Given the description of an element on the screen output the (x, y) to click on. 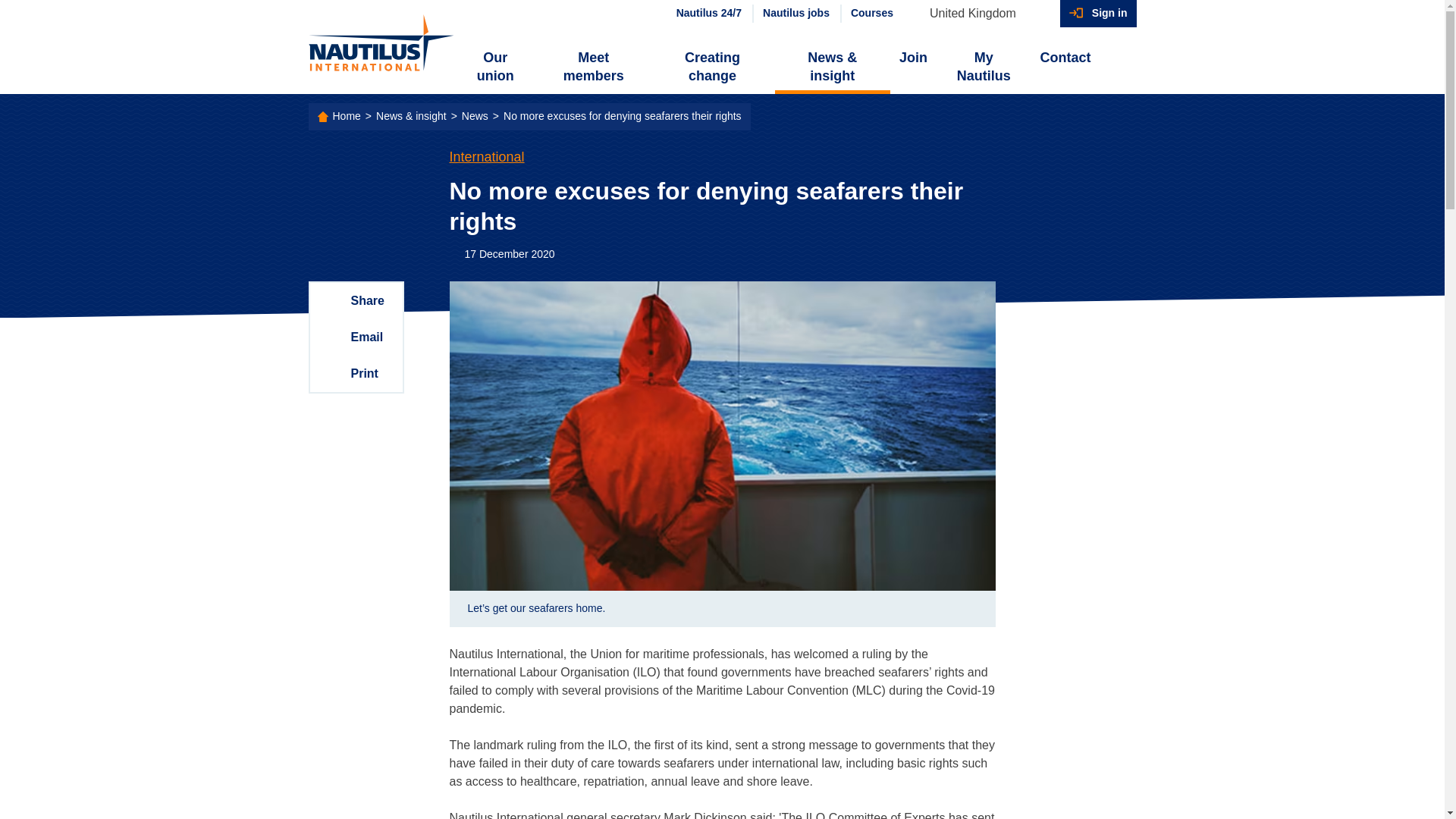
Courses (871, 13)
Join (912, 58)
Our union (495, 67)
Contact (1065, 58)
Creating change (711, 67)
United Kingdom (979, 13)
Sign in (1098, 13)
My Nautilus (983, 67)
Meet members (593, 67)
Nautilus jobs (795, 13)
